Given the description of an element on the screen output the (x, y) to click on. 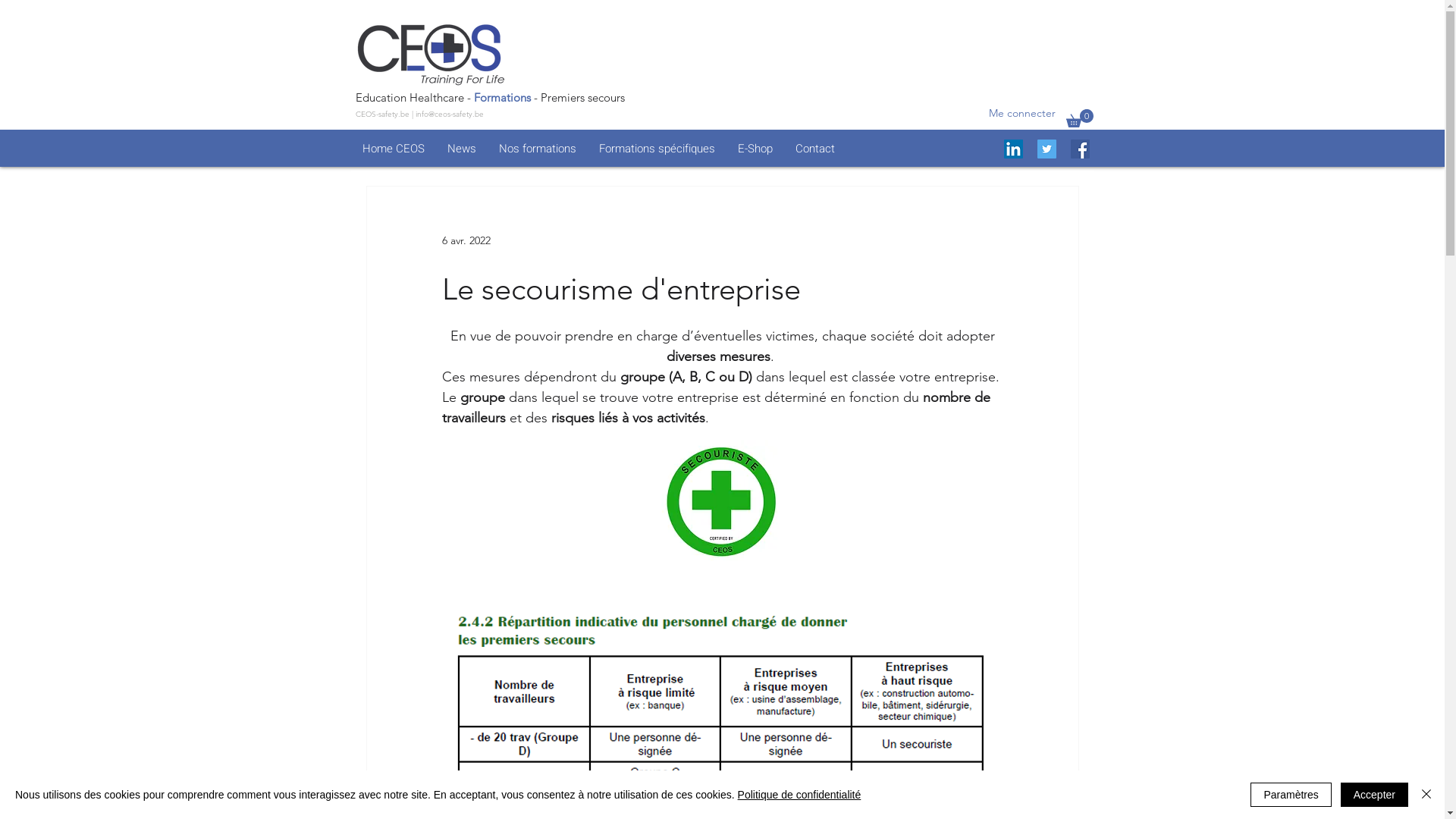
Me connecter Element type: text (1022, 113)
0 Element type: text (1079, 118)
Nos formations Element type: text (536, 148)
News Element type: text (460, 148)
ceos2.png Element type: hover (430, 52)
Contact Element type: text (815, 148)
Education Healthcare - Formations - Premiers secours Element type: text (489, 97)
E-Shop Element type: text (755, 148)
CEOS-safety.be | info@ceos-safety.be Element type: text (418, 114)
Home CEOS Element type: text (392, 148)
Accepter Element type: text (1374, 794)
